Given the description of an element on the screen output the (x, y) to click on. 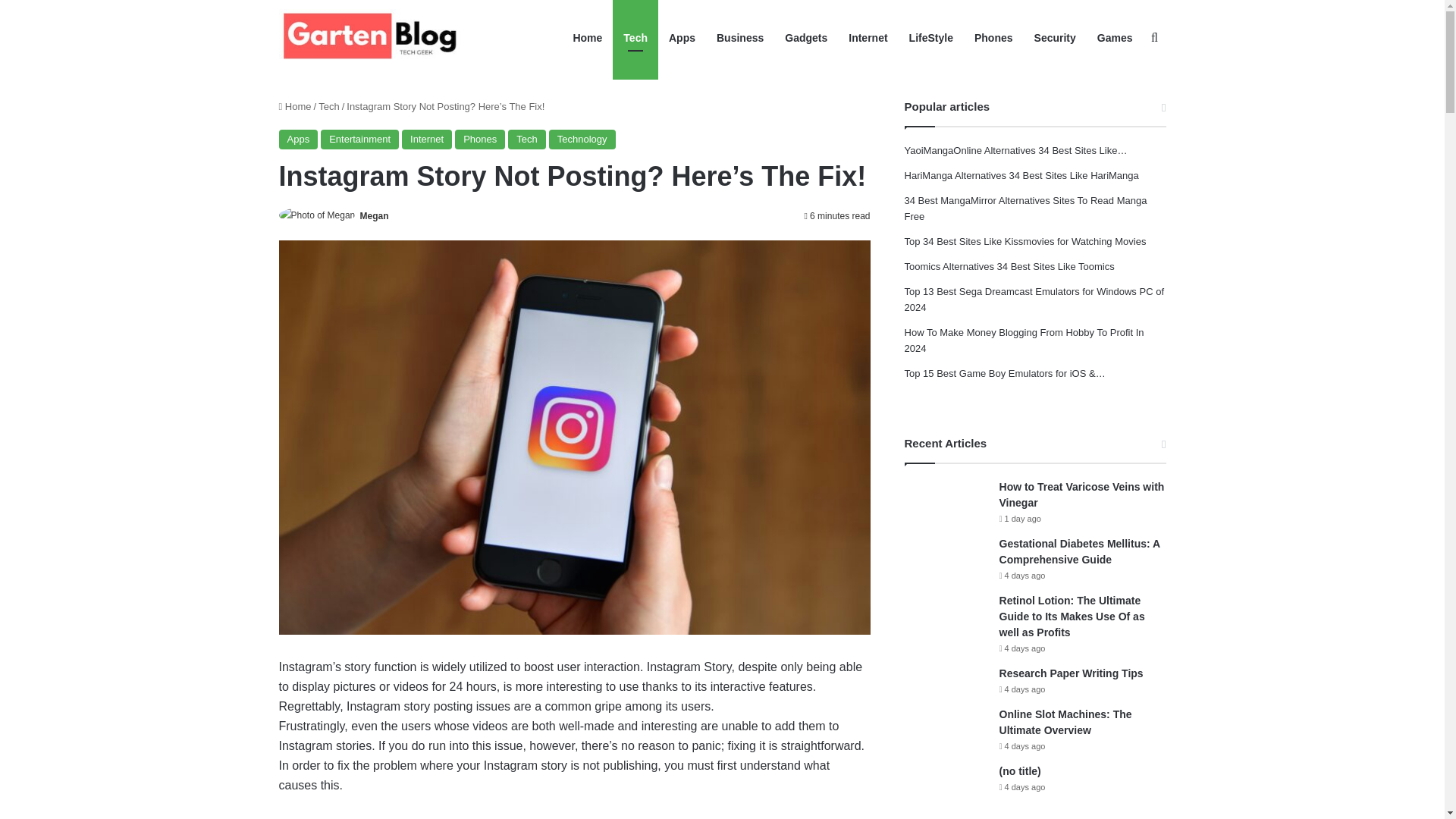
Megan (373, 215)
Home (295, 106)
Garten Blog - Your Tech Companion (373, 38)
Apps (298, 139)
Megan (373, 215)
Tech (328, 106)
Entertainment (359, 139)
Internet (426, 139)
Tech (526, 139)
Business (740, 38)
Technology (581, 139)
Phones (479, 139)
